Given the description of an element on the screen output the (x, y) to click on. 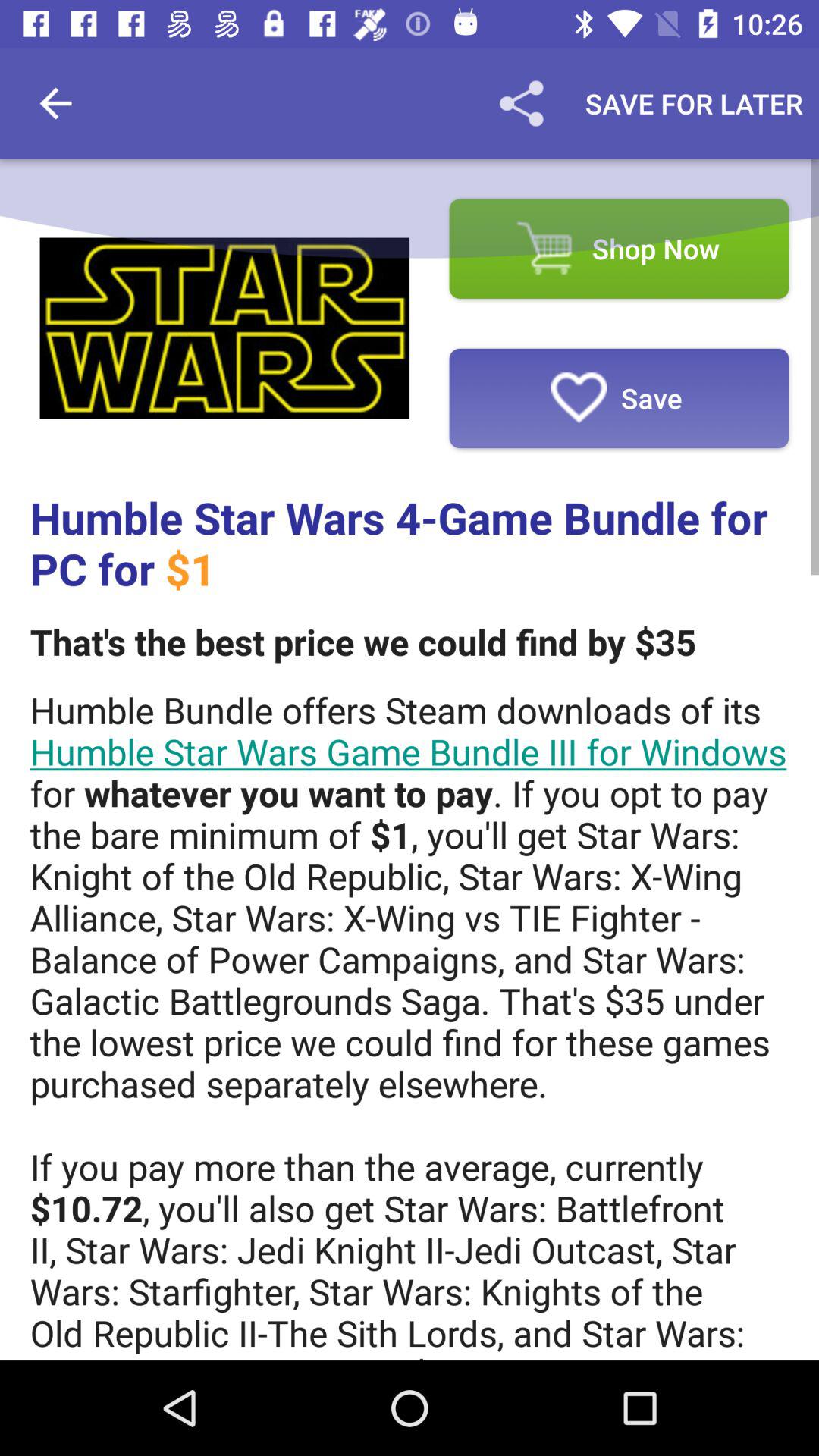
turn on the item above the shop now (694, 103)
